Given the description of an element on the screen output the (x, y) to click on. 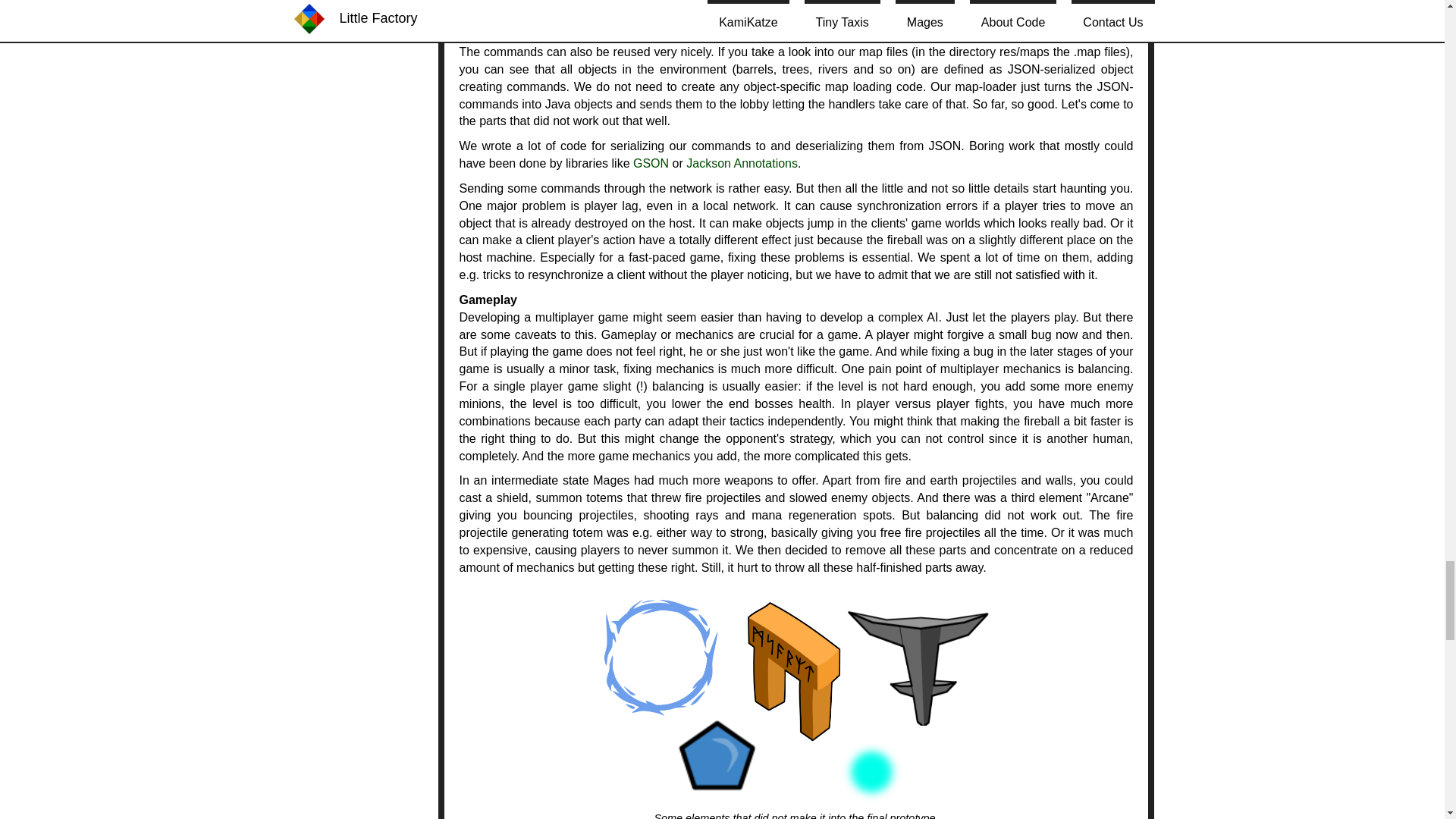
Jackson Annotations (741, 163)
GSON (650, 163)
